Given the description of an element on the screen output the (x, y) to click on. 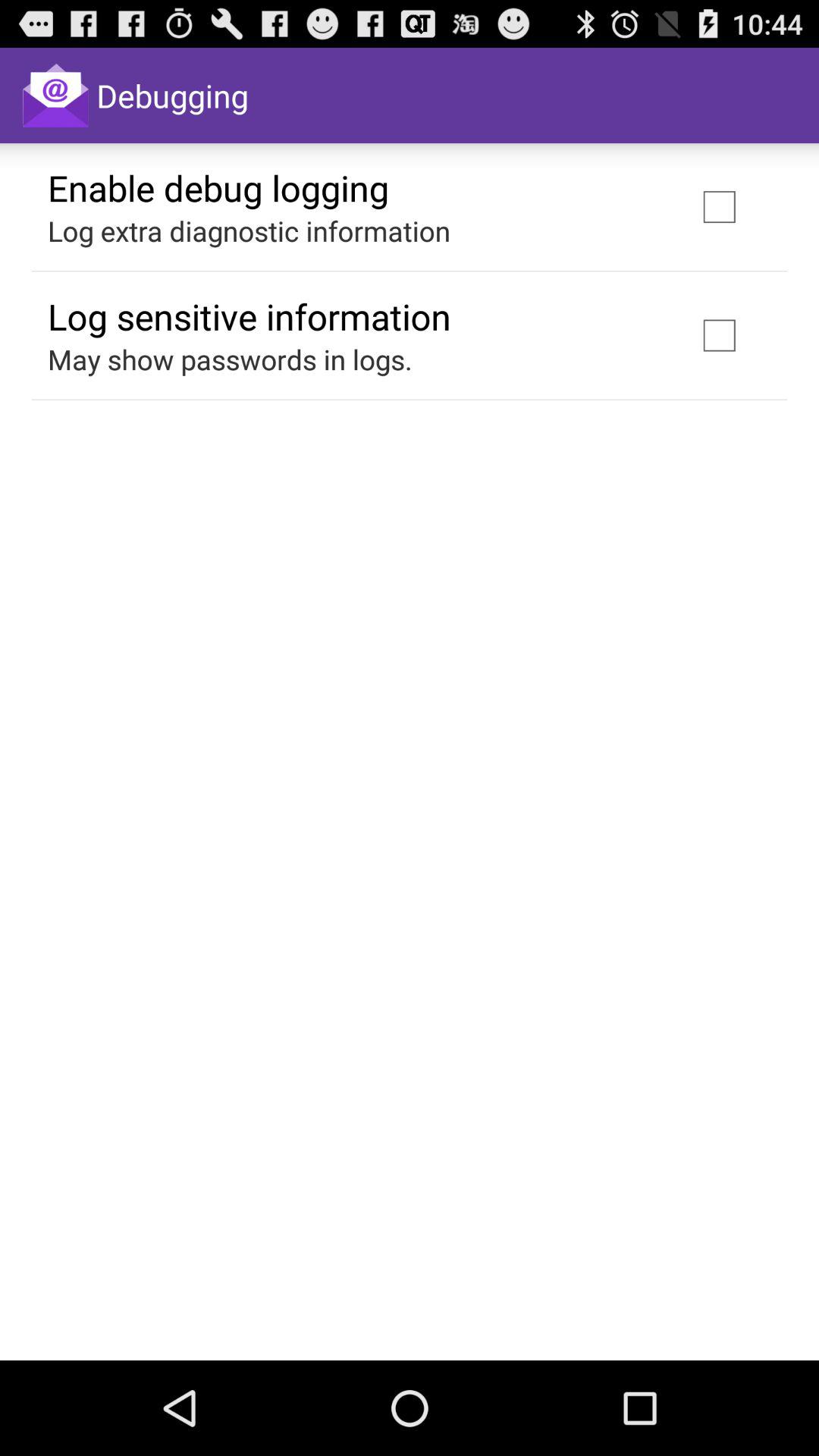
press item above log extra diagnostic item (218, 187)
